Given the description of an element on the screen output the (x, y) to click on. 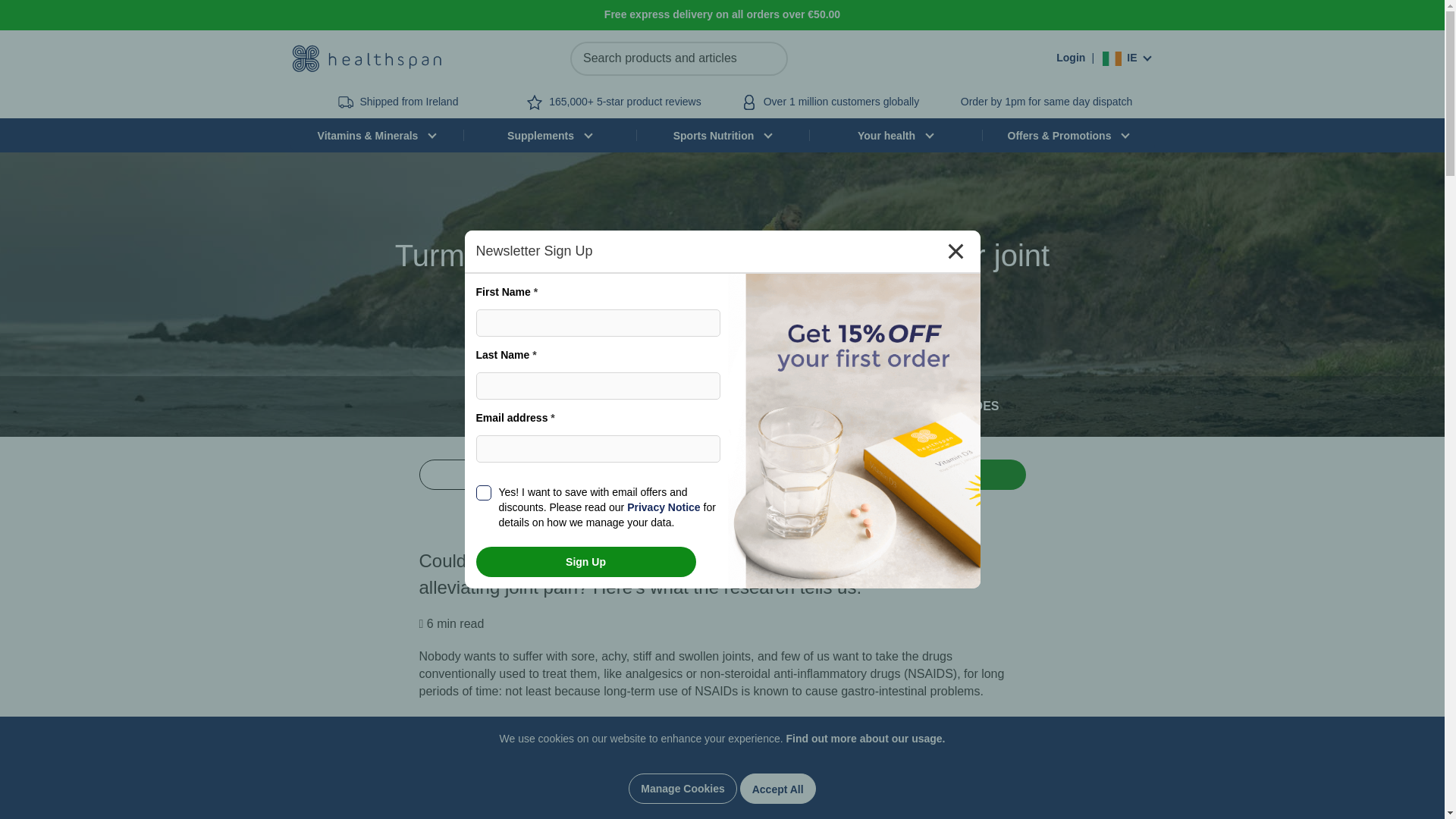
Search products and articles (678, 58)
Sign Up (585, 562)
 Shipped from Ireland (408, 101)
Close (955, 251)
Login (1070, 57)
Delivery information (1046, 101)
Privacy Notice (663, 507)
Login (1070, 57)
Healthspan (365, 57)
Shipped from Ireland (408, 101)
Sign Up (585, 562)
